Given the description of an element on the screen output the (x, y) to click on. 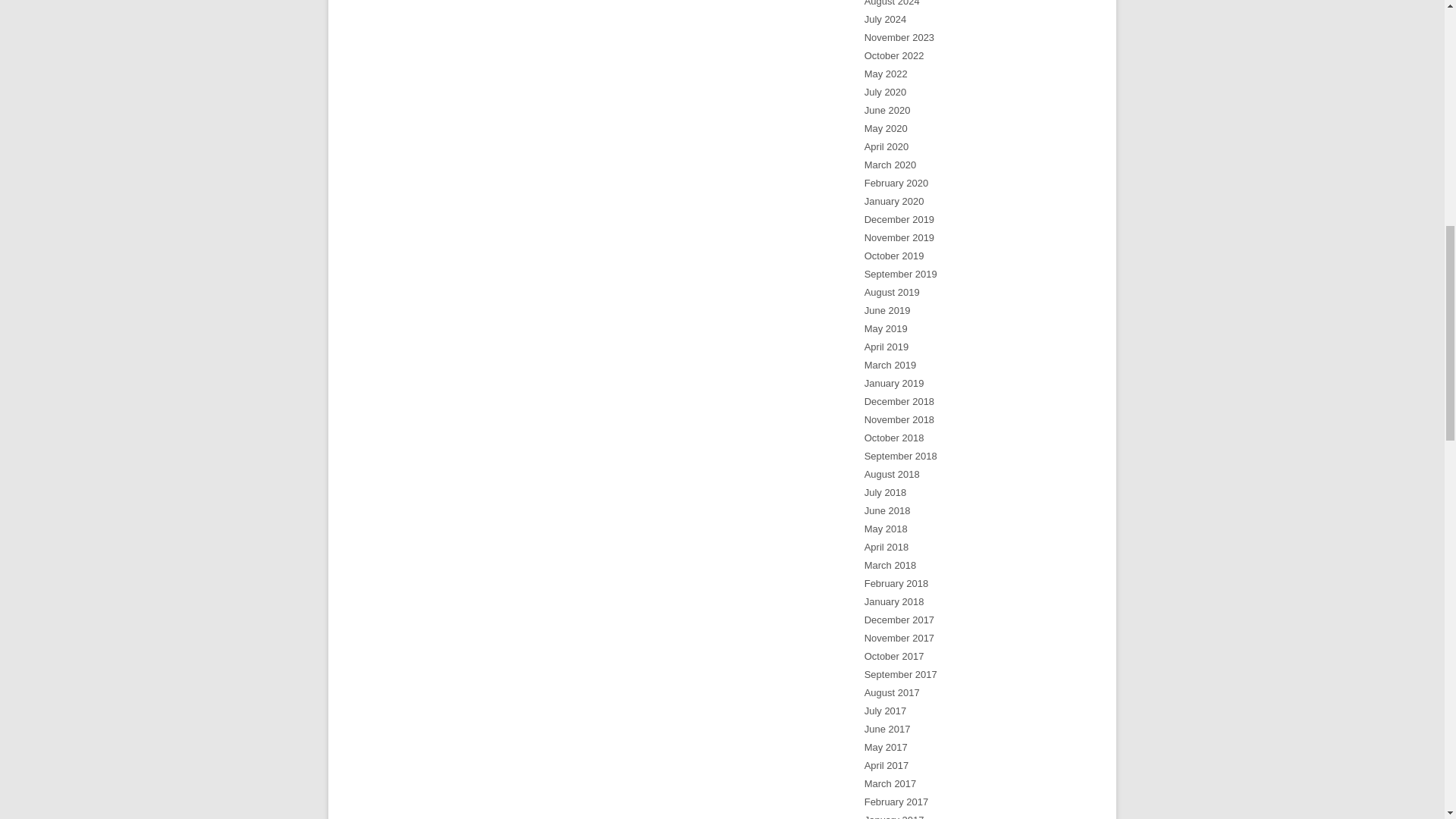
July 2024 (885, 19)
November 2023 (899, 37)
May 2020 (885, 128)
September 2019 (900, 274)
March 2020 (890, 164)
October 2022 (894, 55)
June 2020 (887, 110)
February 2020 (896, 183)
May 2022 (885, 73)
April 2020 (886, 146)
